Given the description of an element on the screen output the (x, y) to click on. 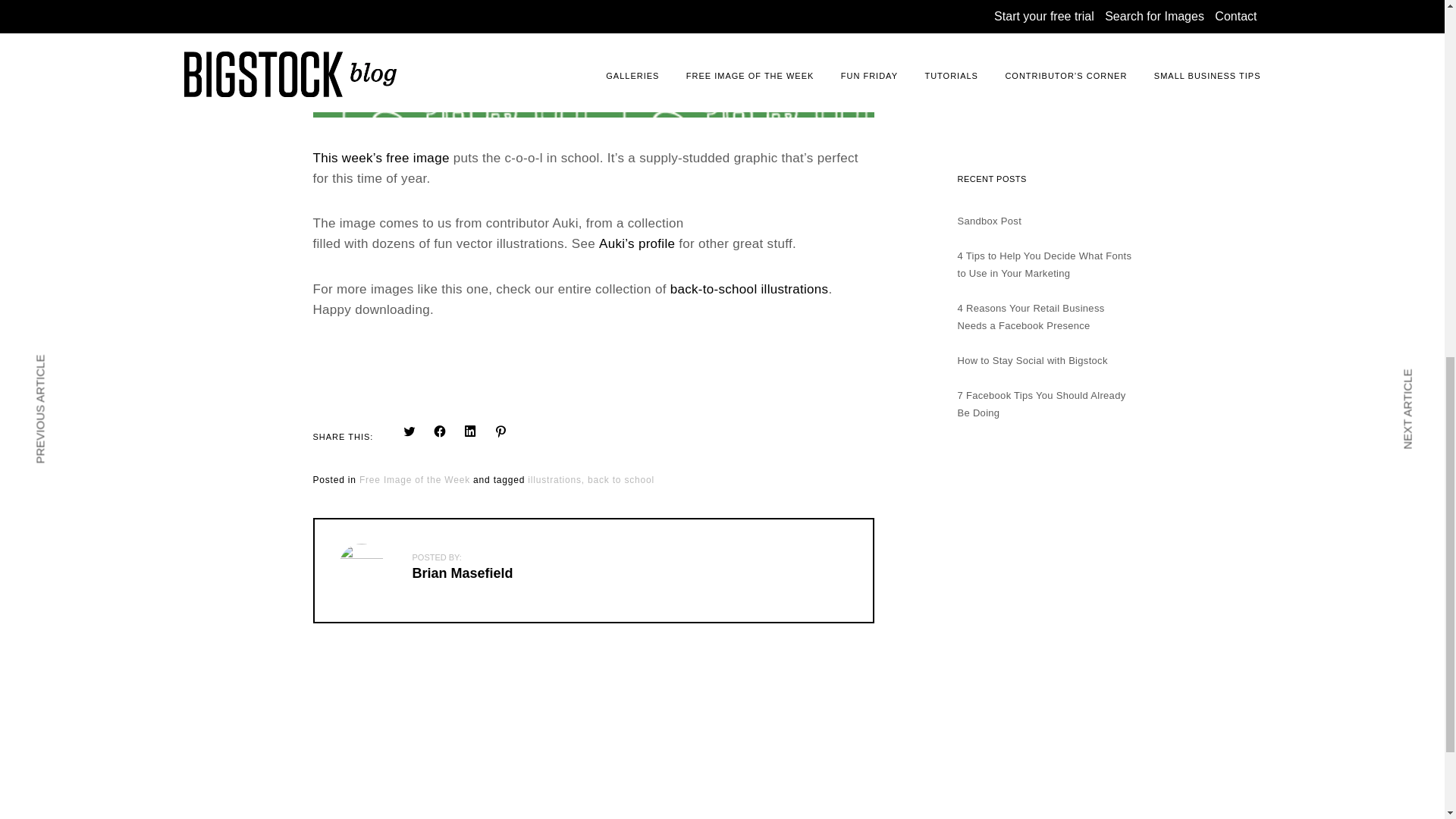
Posts by Brian Masefield (462, 572)
Click to share on Facebook (439, 431)
Click to share on Twitter (409, 431)
Tutorials (975, 69)
back-to-school illustrations (748, 289)
Small Business Tips (1002, 92)
Click to share on Pinterest (499, 431)
Click to share on LinkedIn (469, 431)
illustrations (556, 480)
Brian Masefield (462, 572)
Fun Friday (981, 22)
Free Image of the Week (414, 480)
back to school (620, 480)
Contributor's Corner (1002, 46)
